Given the description of an element on the screen output the (x, y) to click on. 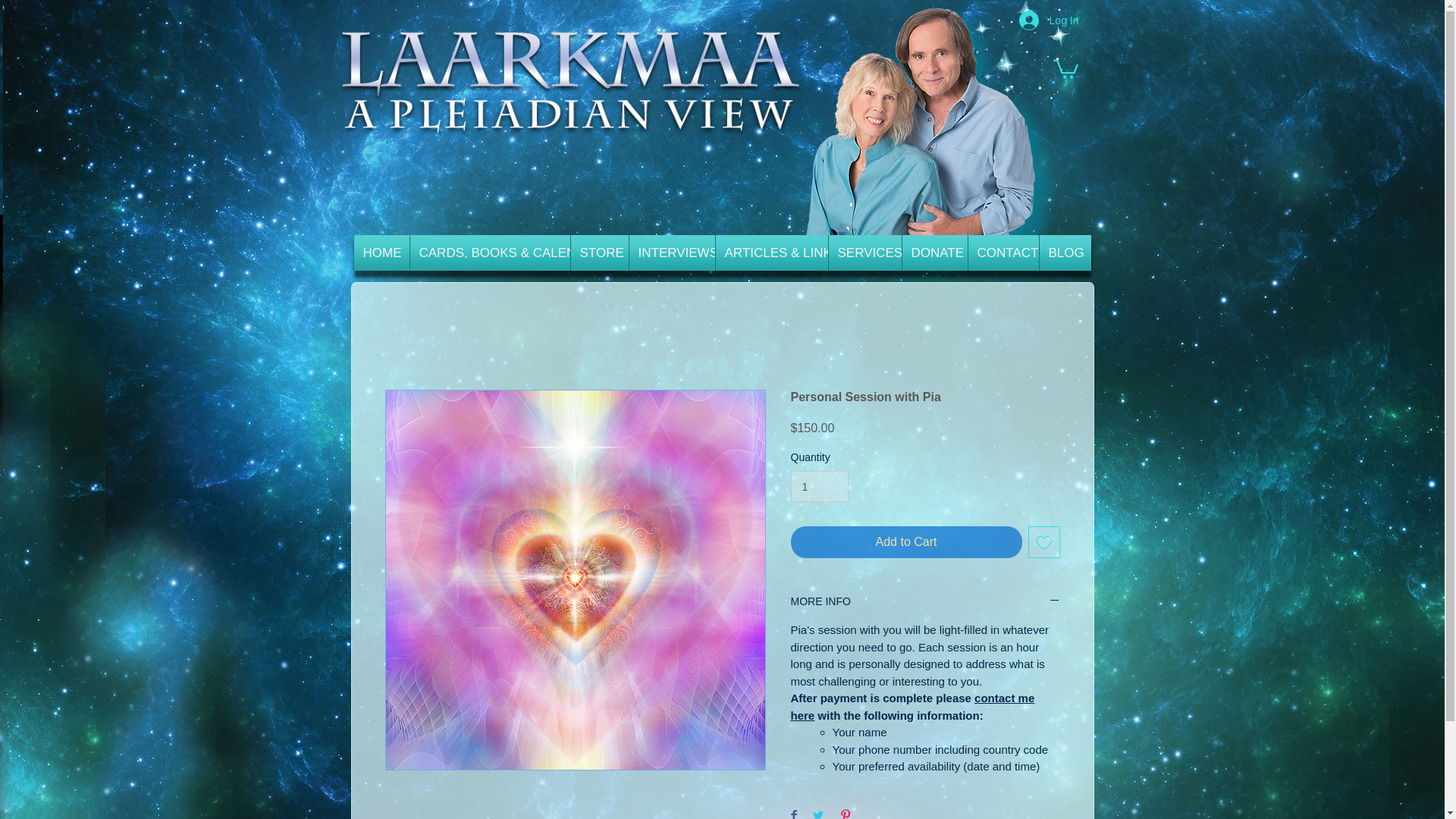
INTERVIEWS (671, 253)
STORE (599, 253)
1 (818, 486)
HOME (381, 253)
Log In (1049, 20)
SERVICES (864, 253)
